Given the description of an element on the screen output the (x, y) to click on. 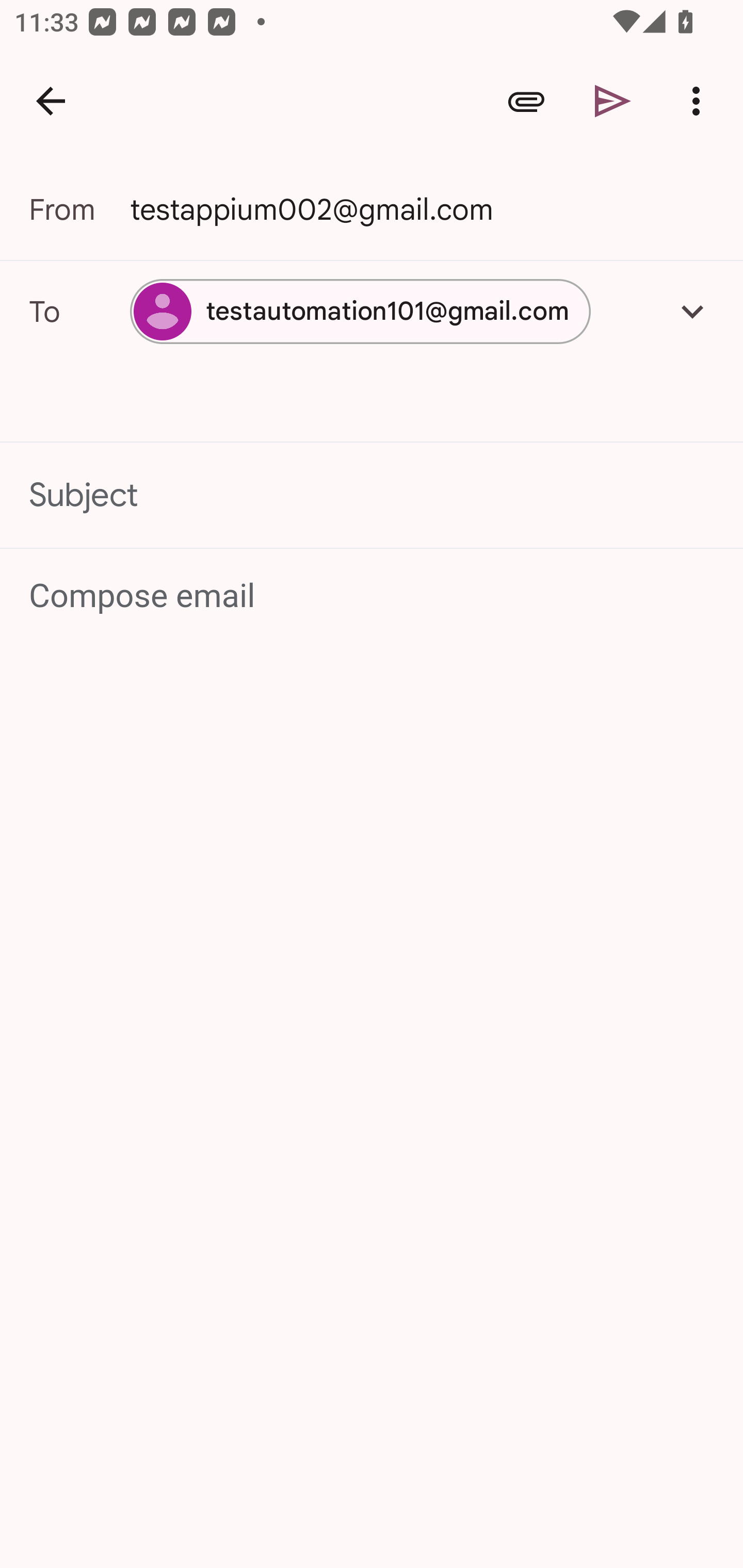
Navigate up (50, 101)
Attach file (525, 101)
Send (612, 101)
More options (699, 101)
From (79, 209)
Add Cc/Bcc (692, 311)
Subject (371, 494)
Compose email (372, 595)
